Given the description of an element on the screen output the (x, y) to click on. 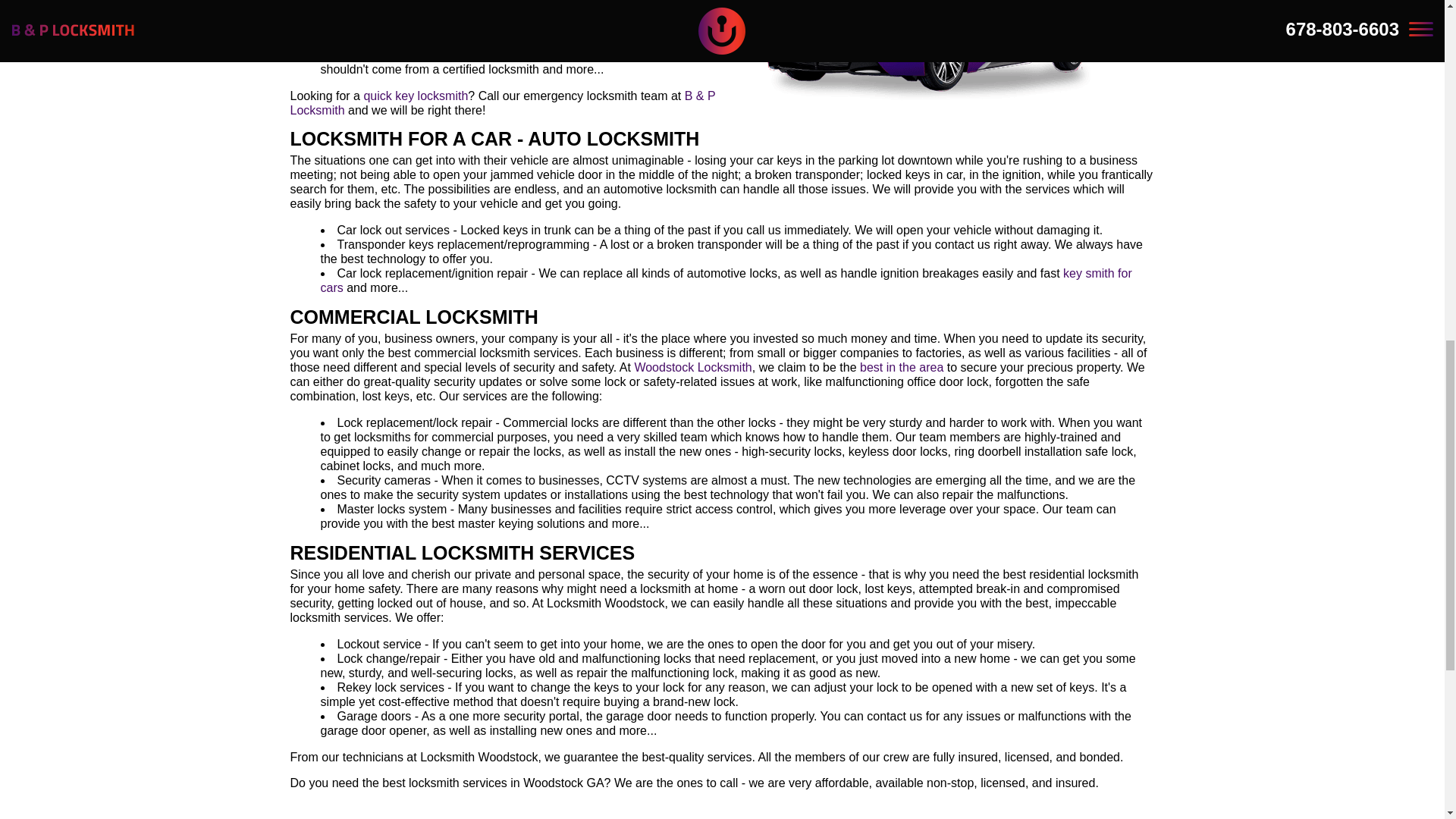
key smith for cars (725, 280)
Woodstock Locksmith (692, 367)
best in the area (959, 51)
quick key locksmith (901, 367)
